Given the description of an element on the screen output the (x, y) to click on. 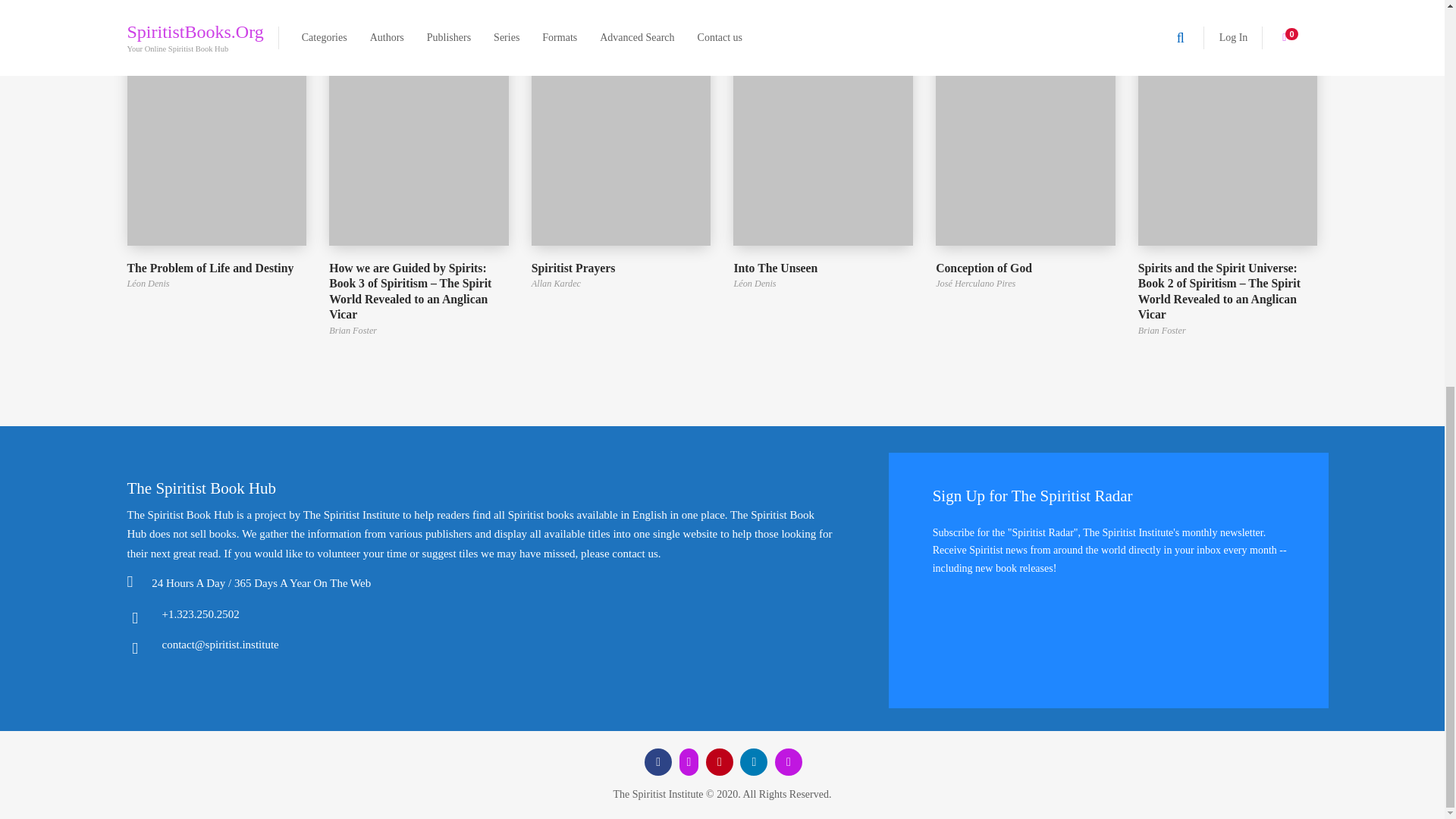
The Problem of Life and Destiny (217, 268)
Conception of God (1025, 268)
Spiritist Prayers (621, 268)
Into The Unseen (822, 268)
